Given the description of an element on the screen output the (x, y) to click on. 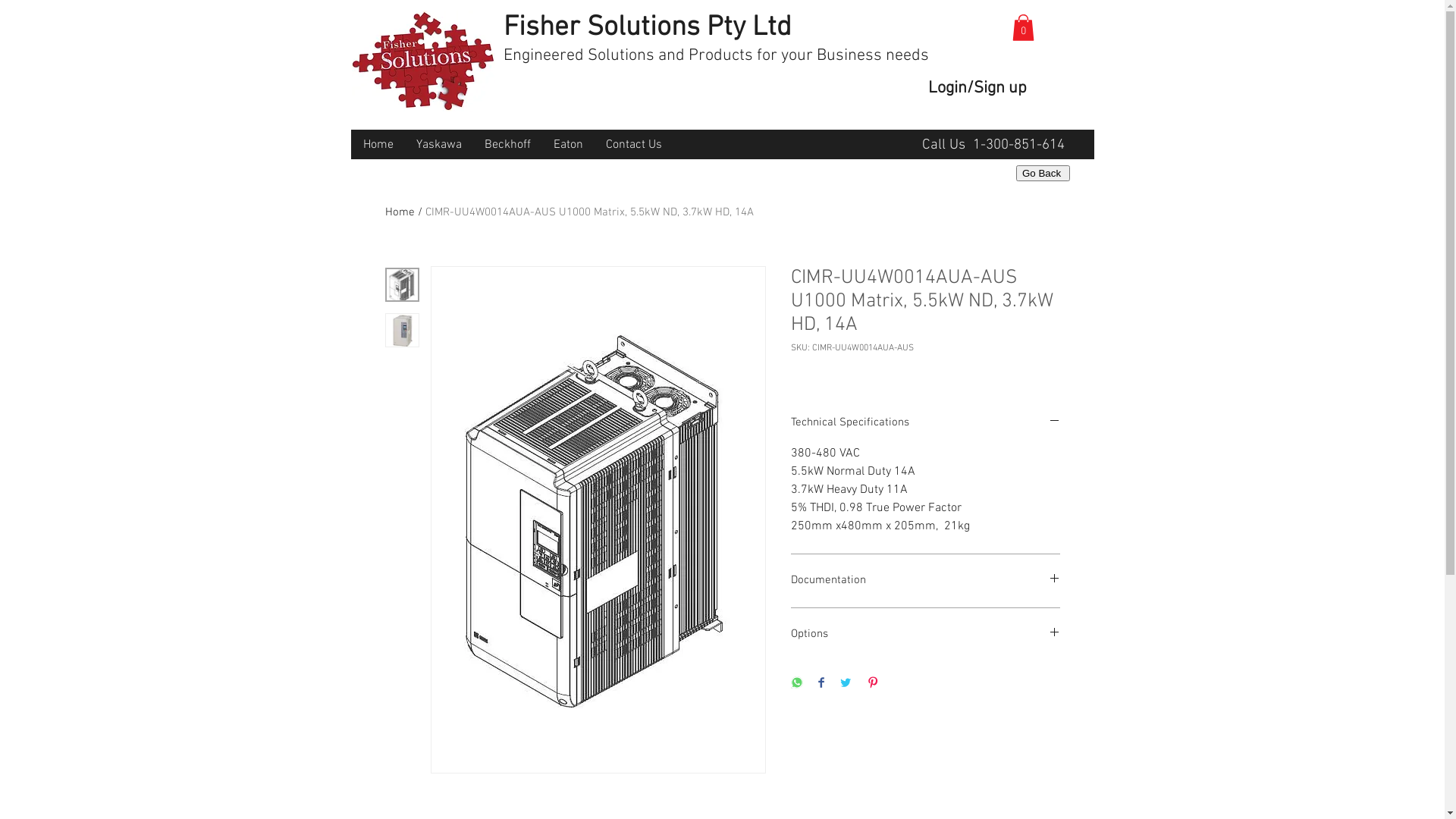
Documentation Element type: text (924, 580)
Yaskawa Element type: text (438, 144)
CIMR-UU4W0014AUA-AUS U1000 Matrix, 5.5kW ND, 3.7kW HD, 14A Element type: text (588, 212)
Engineered Solutions and Products for your Business needs Element type: text (715, 55)
Fisher Solutions Pty Ltd Element type: text (647, 27)
Eaton Element type: text (567, 144)
Home Element type: text (399, 212)
Embedded Content Element type: hover (1052, 173)
Home Element type: text (377, 144)
Contact Us Element type: text (633, 144)
Site Search Element type: hover (675, 116)
0 Element type: text (1022, 27)
Beckhoff Element type: text (507, 144)
Options Element type: text (924, 634)
Login/Sign up Element type: text (977, 88)
Technical Specifications Element type: text (924, 422)
